Given the description of an element on the screen output the (x, y) to click on. 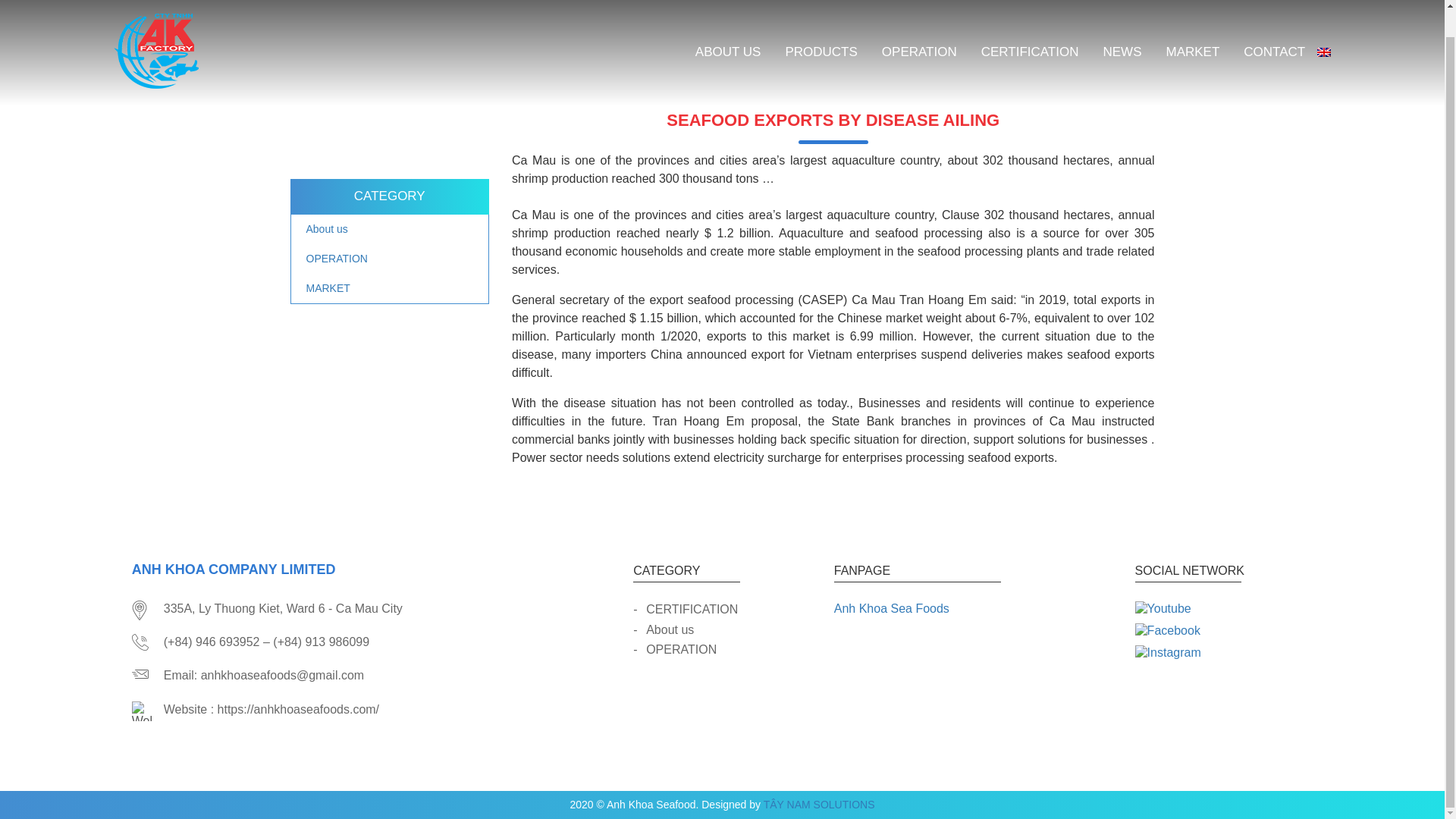
MARKET (1193, 23)
PRODUCTS (820, 23)
About us (390, 229)
About us (728, 649)
ABOUT US (728, 629)
OPERATION (728, 23)
CONTACT (919, 23)
MARKET (728, 609)
